Given the description of an element on the screen output the (x, y) to click on. 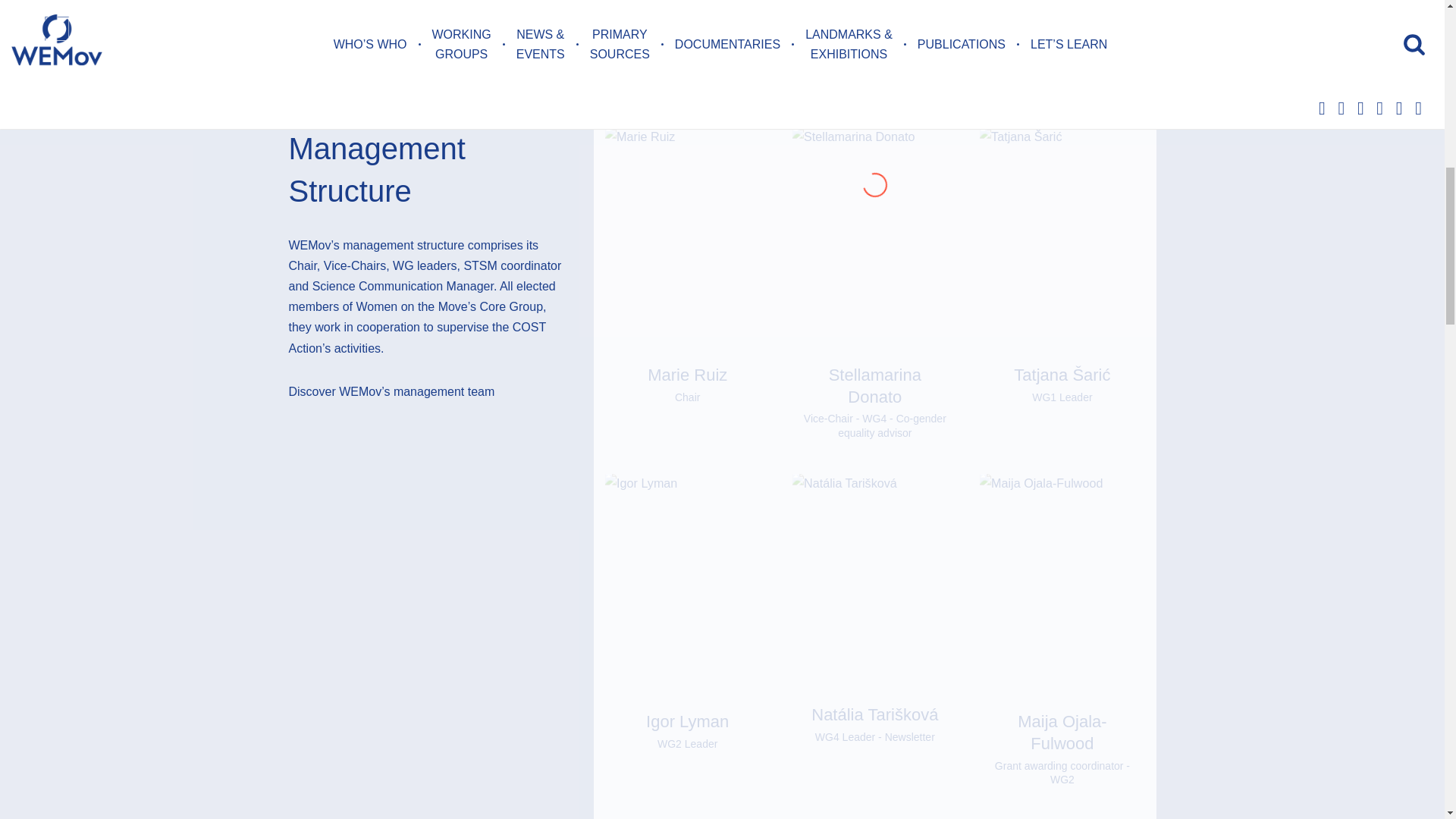
Stellamarina Donato (874, 425)
A JavaScript library for interactive maps (1289, 23)
Marie Ruiz (687, 397)
Igor Lyman (687, 743)
Stellamarina Donato (874, 385)
Marie Ruiz (686, 374)
Igor Lyman (687, 721)
